Given the description of an element on the screen output the (x, y) to click on. 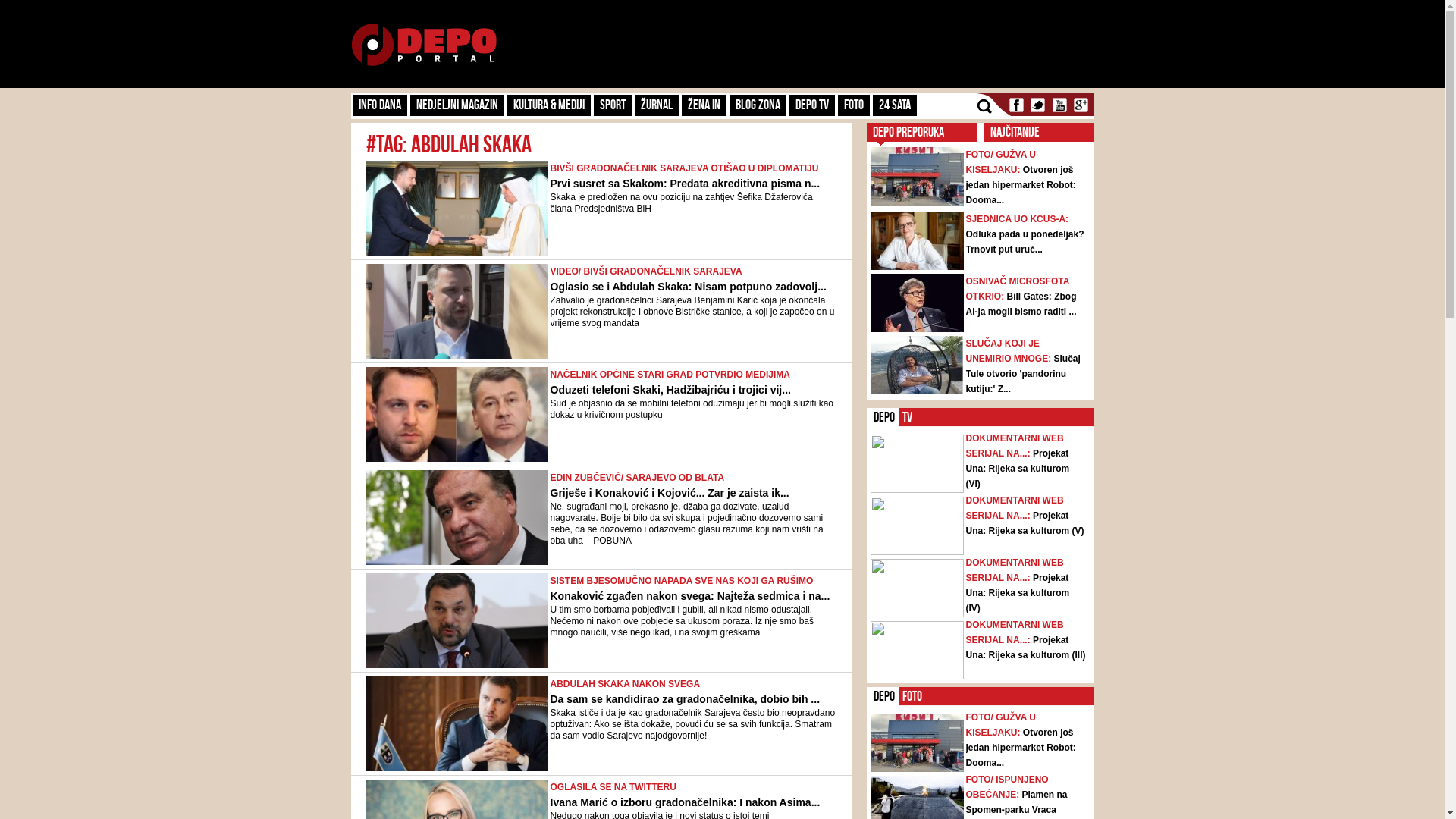
Gmail Element type: text (1080, 104)
DOKUMENTARNI WEB SERIJAL NA...: Element type: text (1014, 632)
Projekat Una: Rijeka sa kulturom (VI) Element type: text (1018, 468)
Prvi susret sa Skakom: Predata akreditivna pisma n... Element type: text (685, 183)
DEPO PREPORUKA Element type: text (907, 131)
Bill Gates: Zbog AI-ja mogli bismo raditi ... Element type: text (1021, 303)
Sport Element type: text (611, 105)
DEPO TV Element type: text (908, 416)
DOKUMENTARNI WEB SERIJAL NA...: Element type: text (1014, 570)
Projekat Una: Rijeka sa kulturom (IV) Element type: text (1018, 592)
Projekat Una: Rijeka sa kulturom (III) Element type: text (1025, 647)
Info dana Element type: text (378, 105)
Facebook Element type: text (1016, 104)
Nedjeljni magazin Element type: text (456, 105)
Youtube Element type: text (1058, 104)
Depo.ba Element type: text (423, 44)
Oglasio se i Abdulah Skaka: Nisam potpuno zadovolj... Element type: text (688, 286)
DEPO FOTO Element type: text (913, 695)
Blog zona Element type: text (757, 105)
OGLASILA SE NA TWITTERU Element type: text (613, 786)
Kultura & Mediji Element type: text (547, 105)
SJEDNICA UO KCUS-A: Element type: text (1017, 218)
24 SATA Element type: text (894, 105)
ABDULAH SKAKA NAKON SVEGA Element type: text (625, 683)
DOKUMENTARNI WEB SERIJAL NA...: Element type: text (1014, 507)
FOTO Element type: text (853, 105)
Depo TV Element type: text (811, 105)
DOKUMENTARNI WEB SERIJAL NA...: Element type: text (1014, 445)
Projekat Una: Rijeka sa kulturom (V) Element type: text (1025, 523)
Twitter Element type: text (1037, 104)
